Given the description of an element on the screen output the (x, y) to click on. 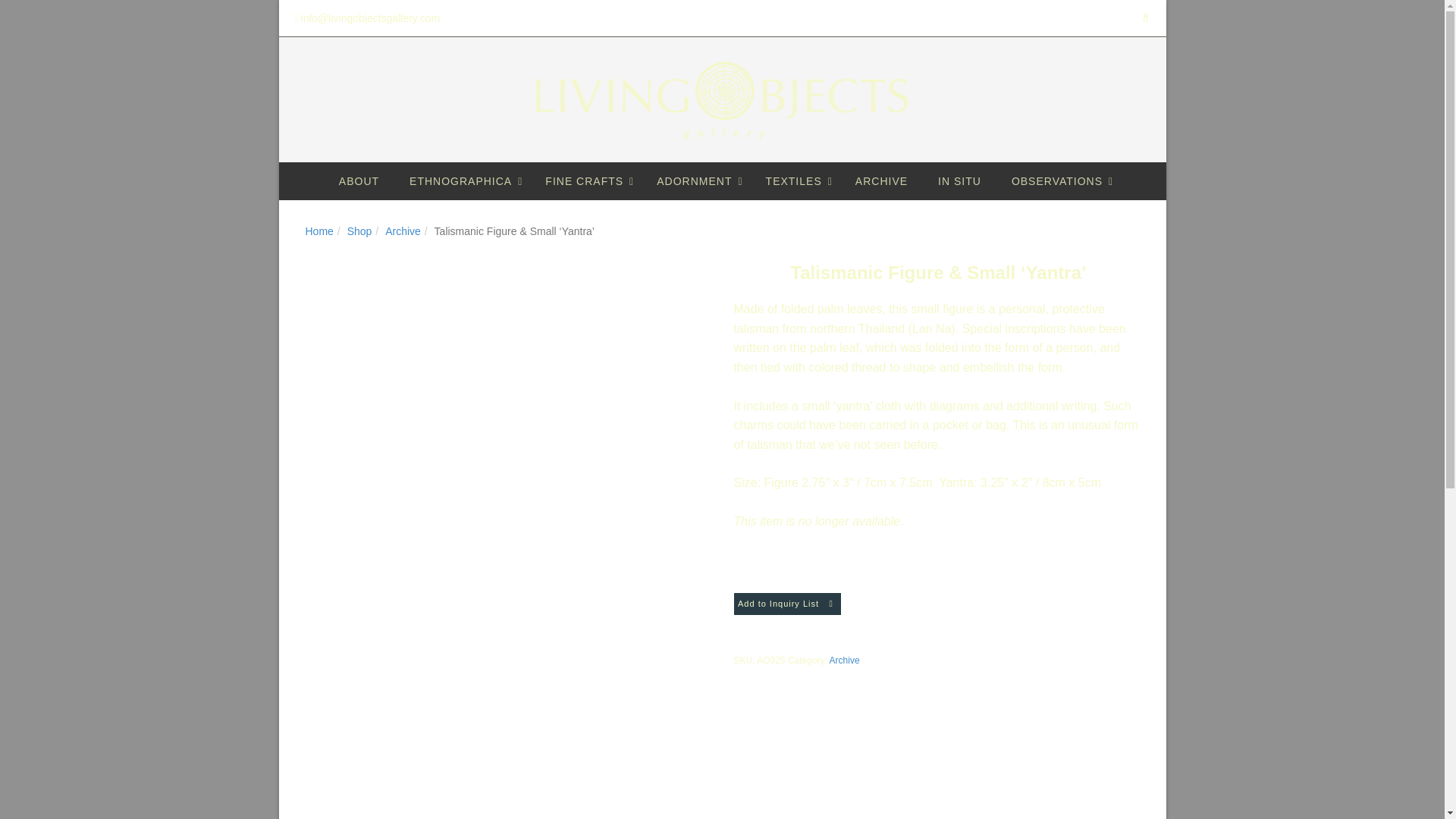
ADORNMENT (695, 180)
Shop (359, 231)
ABOUT (358, 180)
Home (318, 231)
Living Objects Gallery (721, 99)
ETHNOGRAPHICA (461, 180)
Archive (402, 231)
FINE CRAFTS (585, 180)
